Given the description of an element on the screen output the (x, y) to click on. 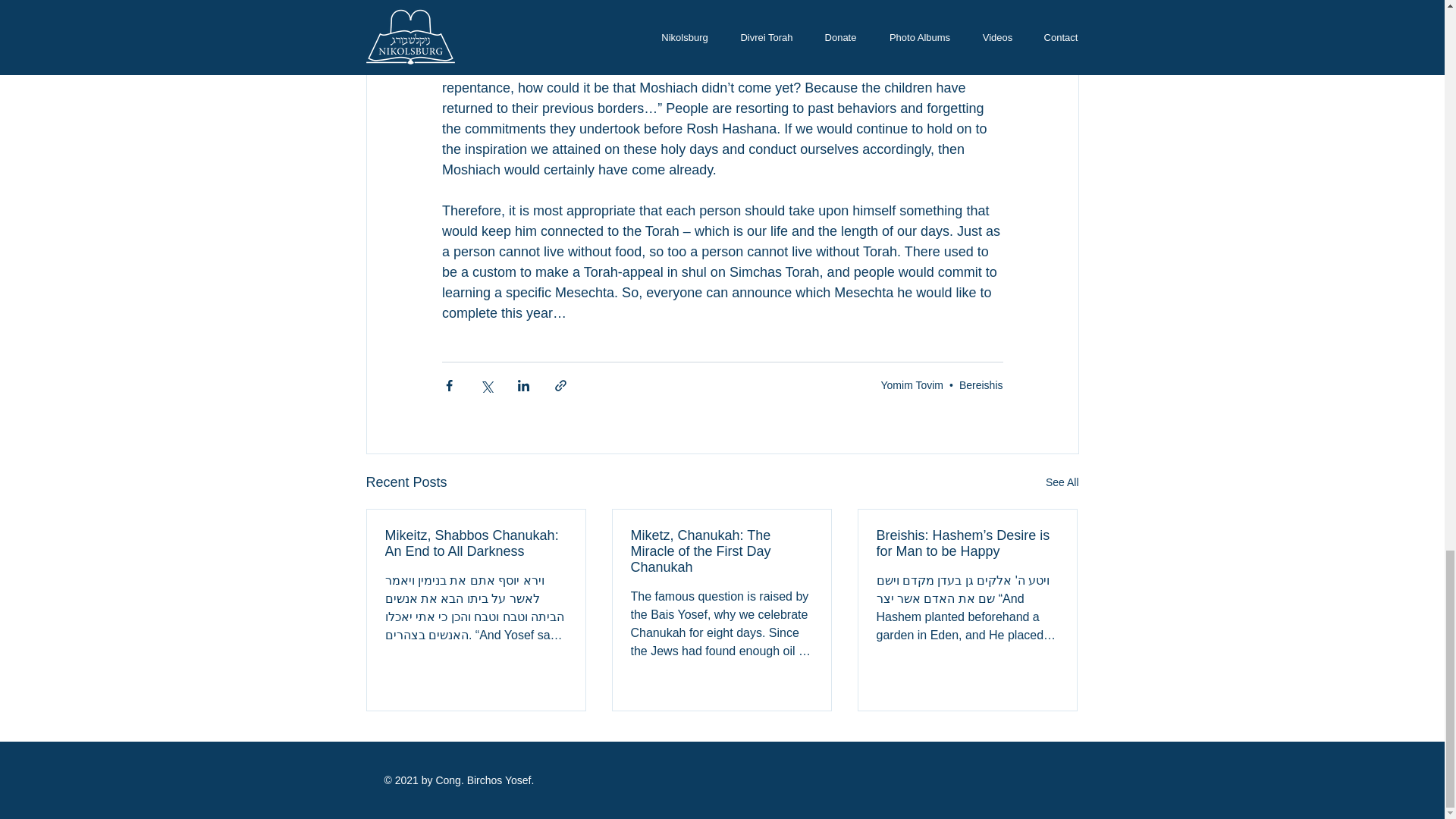
Miketz, Chanukah: The Miracle of the First Day Chanukah (721, 551)
Mikeitz, Shabbos Chanukah: An End to All Darkness (476, 543)
See All (1061, 482)
Yomim Tovim (911, 384)
Bereishis (981, 384)
